Given the description of an element on the screen output the (x, y) to click on. 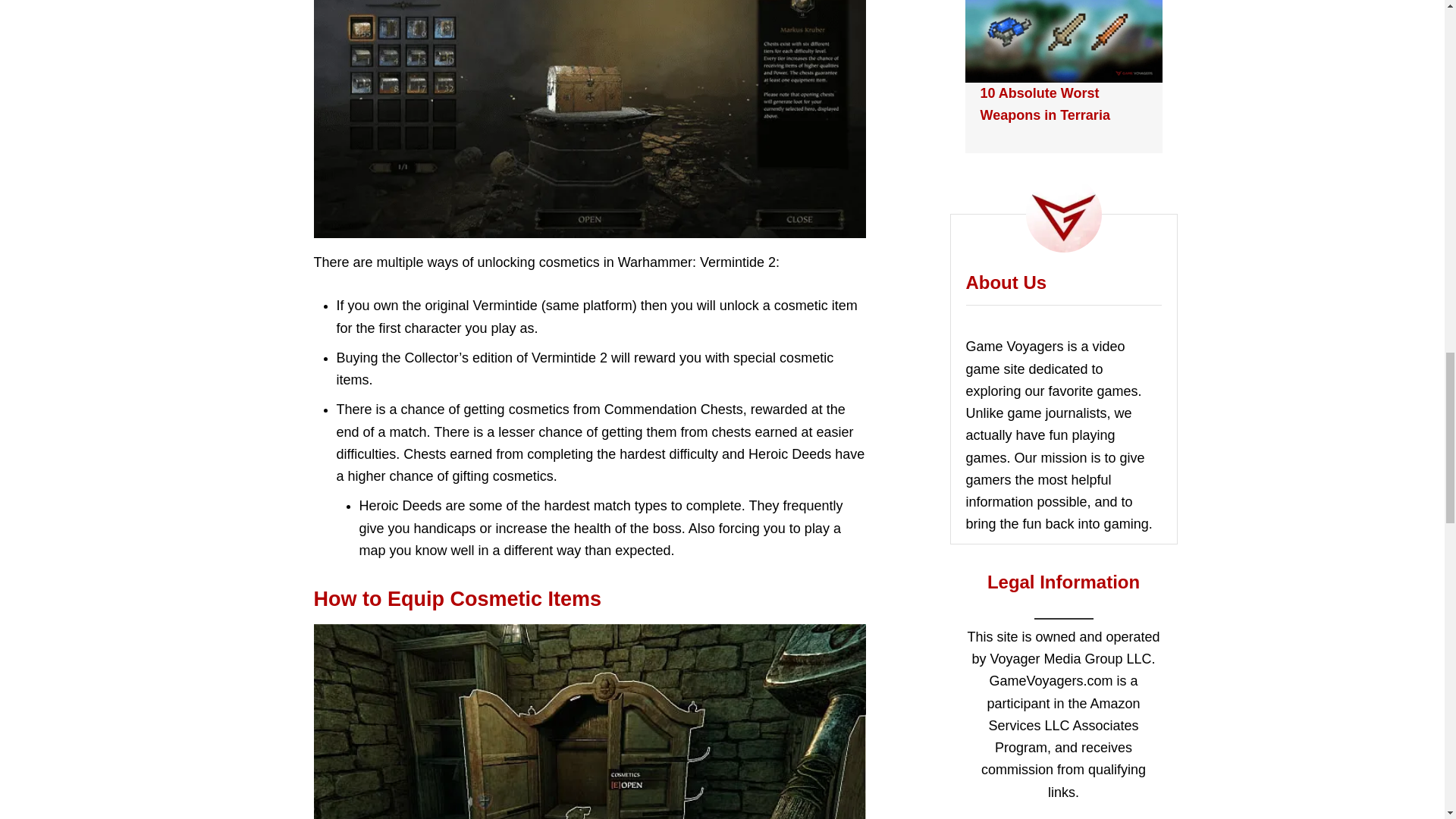
How To Equip Cosmetics In Warhammer: Vermintide 2 2 (590, 119)
10 Absolute Worst Weapons in Terraria (1044, 103)
How To Equip Cosmetics In Warhammer: Vermintide 2 3 (590, 721)
